Given the description of an element on the screen output the (x, y) to click on. 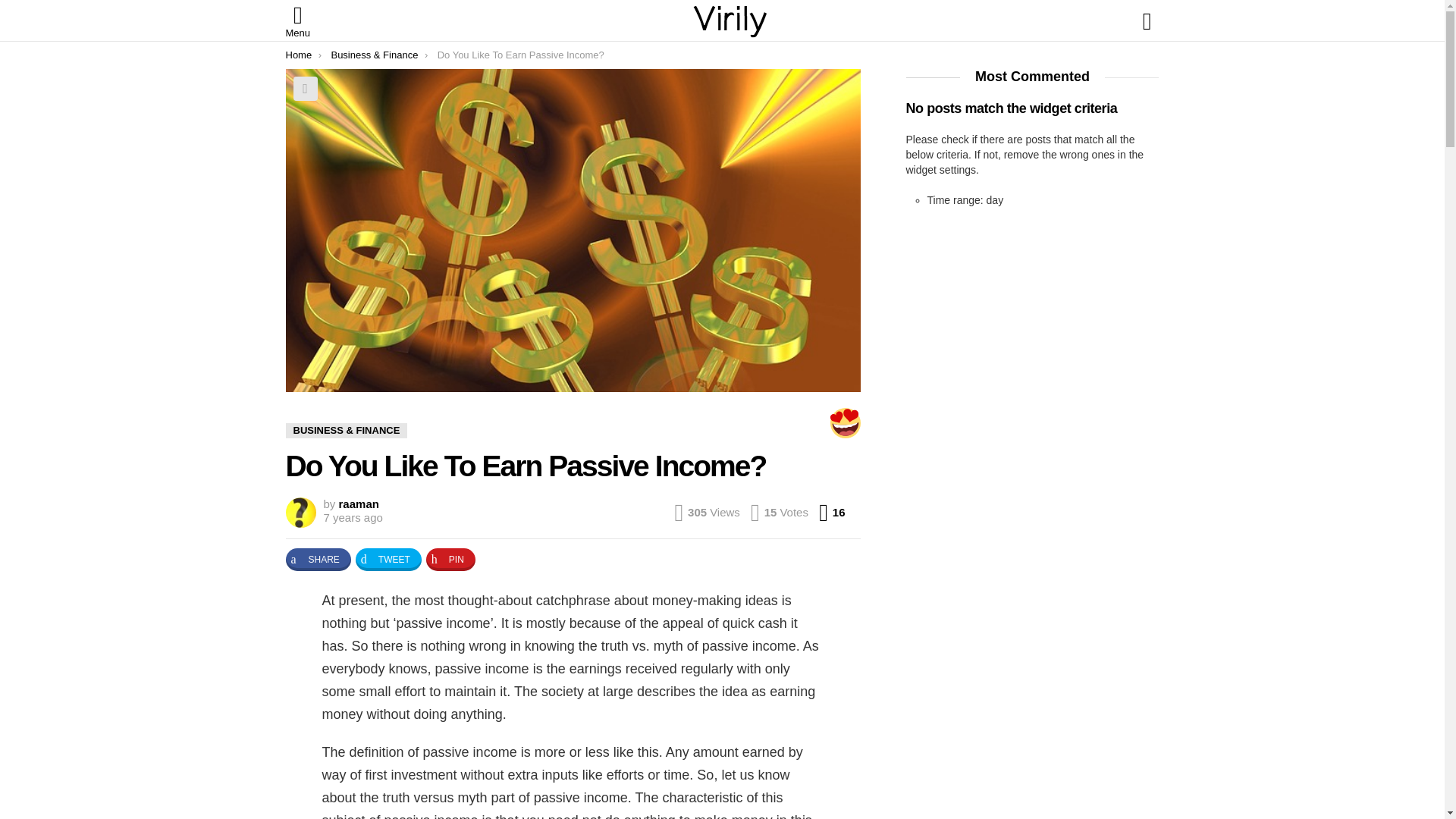
Share (831, 512)
TWEET (304, 88)
Share on Share (388, 558)
Love It (317, 558)
Posts by raaman (844, 422)
May 31, 2017, 10:07 am (358, 503)
SHARE (352, 517)
Home (317, 558)
Share on Pin (298, 54)
raaman (451, 558)
Share on Tweet (358, 503)
PIN (388, 558)
